Given the description of an element on the screen output the (x, y) to click on. 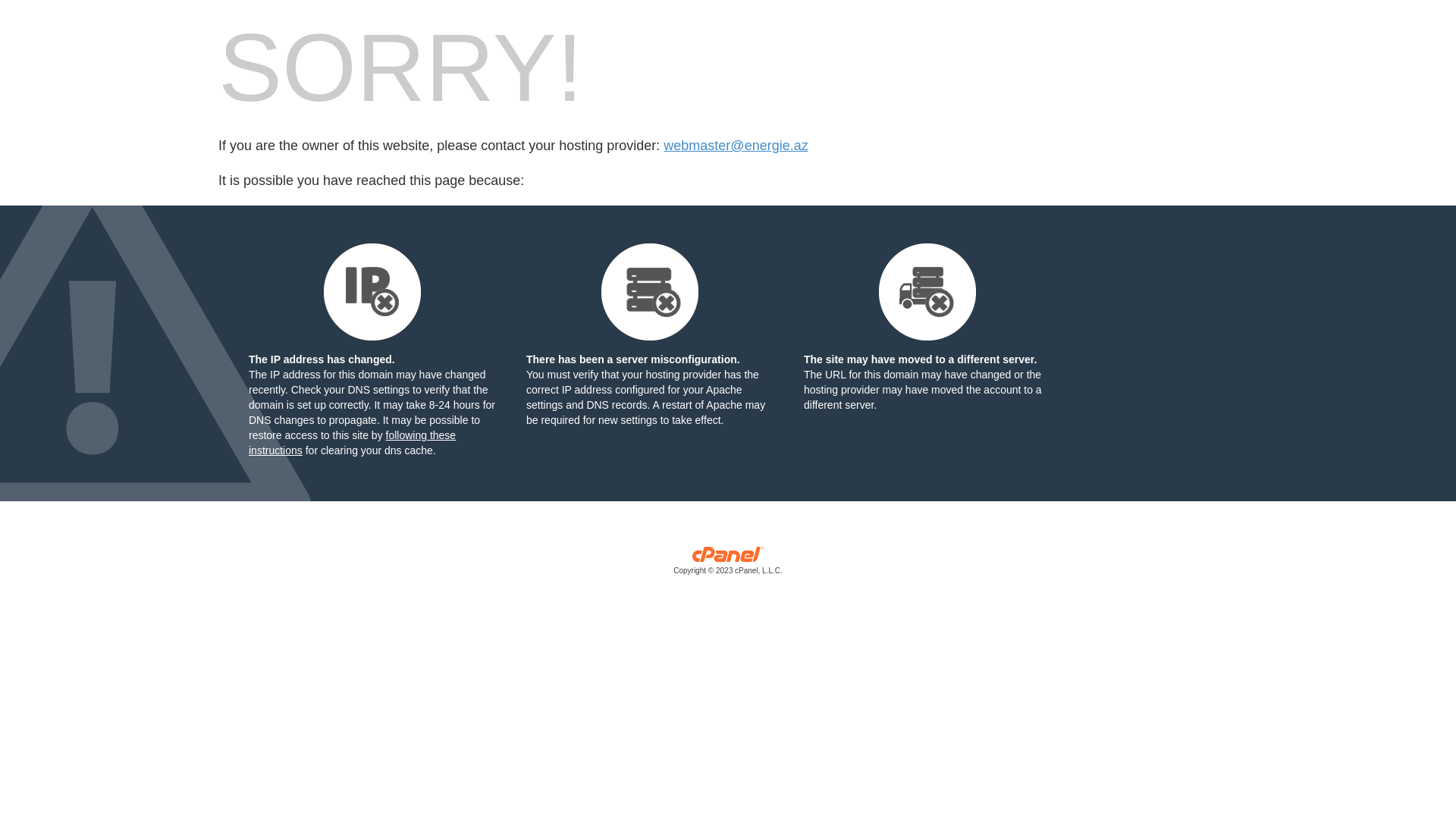
webmaster@energie.az Element type: text (735, 145)
following these instructions Element type: text (351, 442)
